Given the description of an element on the screen output the (x, y) to click on. 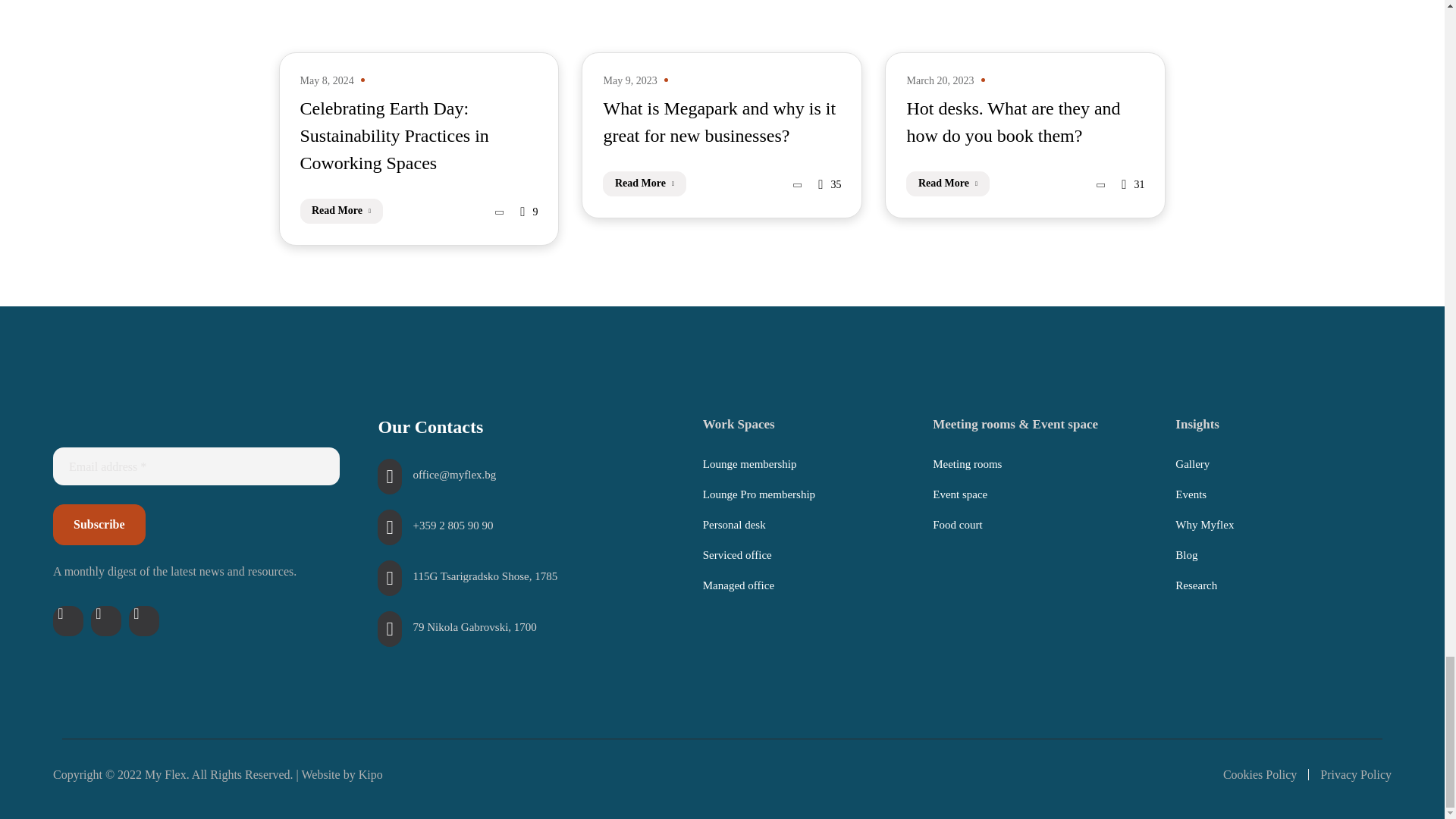
Instagram (105, 621)
Like (528, 211)
Subscribe (98, 524)
Like (829, 183)
Facebook (67, 621)
Linkedin (143, 621)
Like (1132, 183)
